Given the description of an element on the screen output the (x, y) to click on. 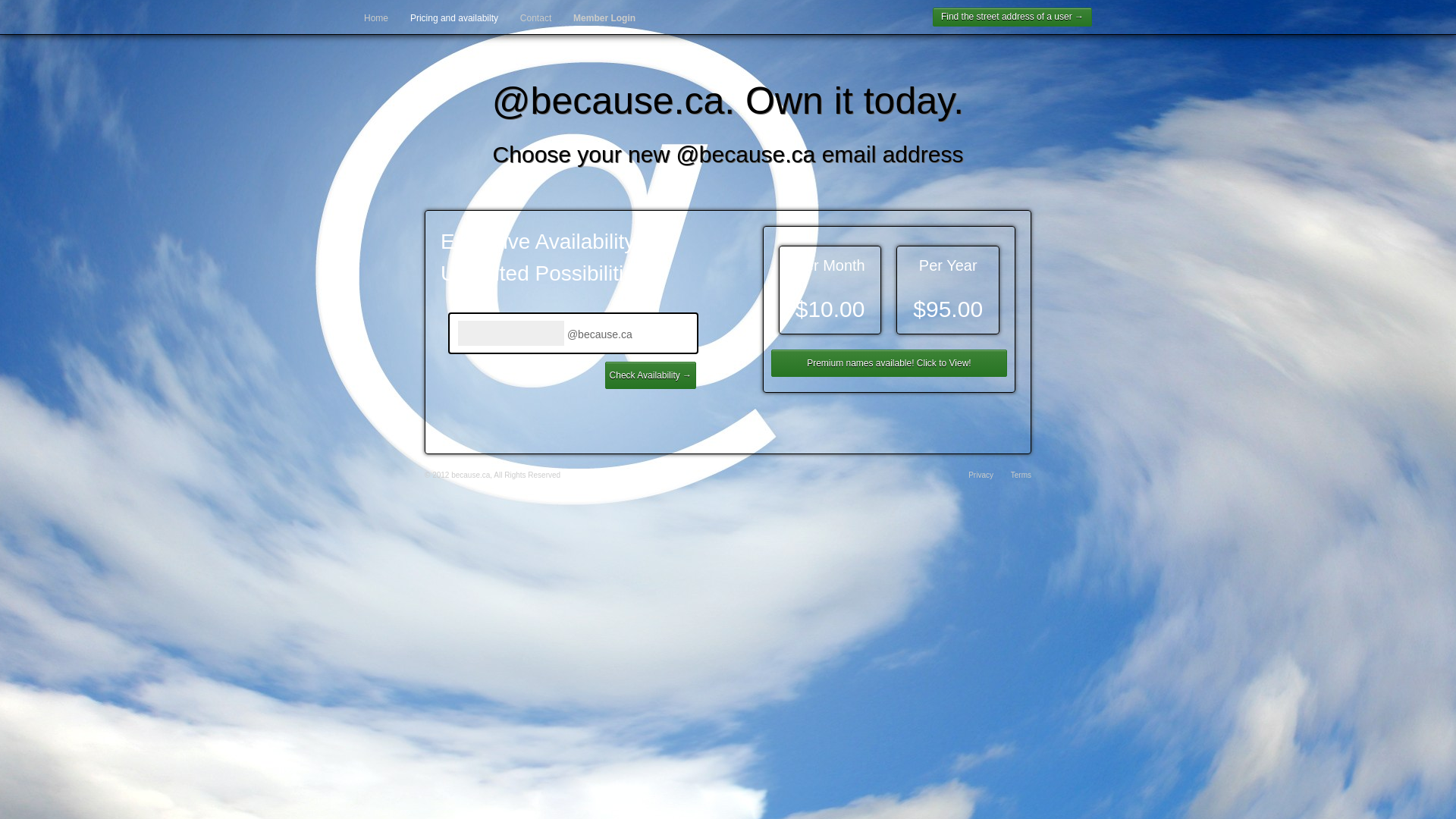
Home Element type: text (376, 17)
Contact Element type: text (535, 17)
Terms Element type: text (1020, 474)
Premium names available! Click to View! Element type: text (889, 362)
Privacy Element type: text (980, 474)
Member Login Element type: text (604, 17)
Pricing and availabilty Element type: text (454, 17)
